Given the description of an element on the screen output the (x, y) to click on. 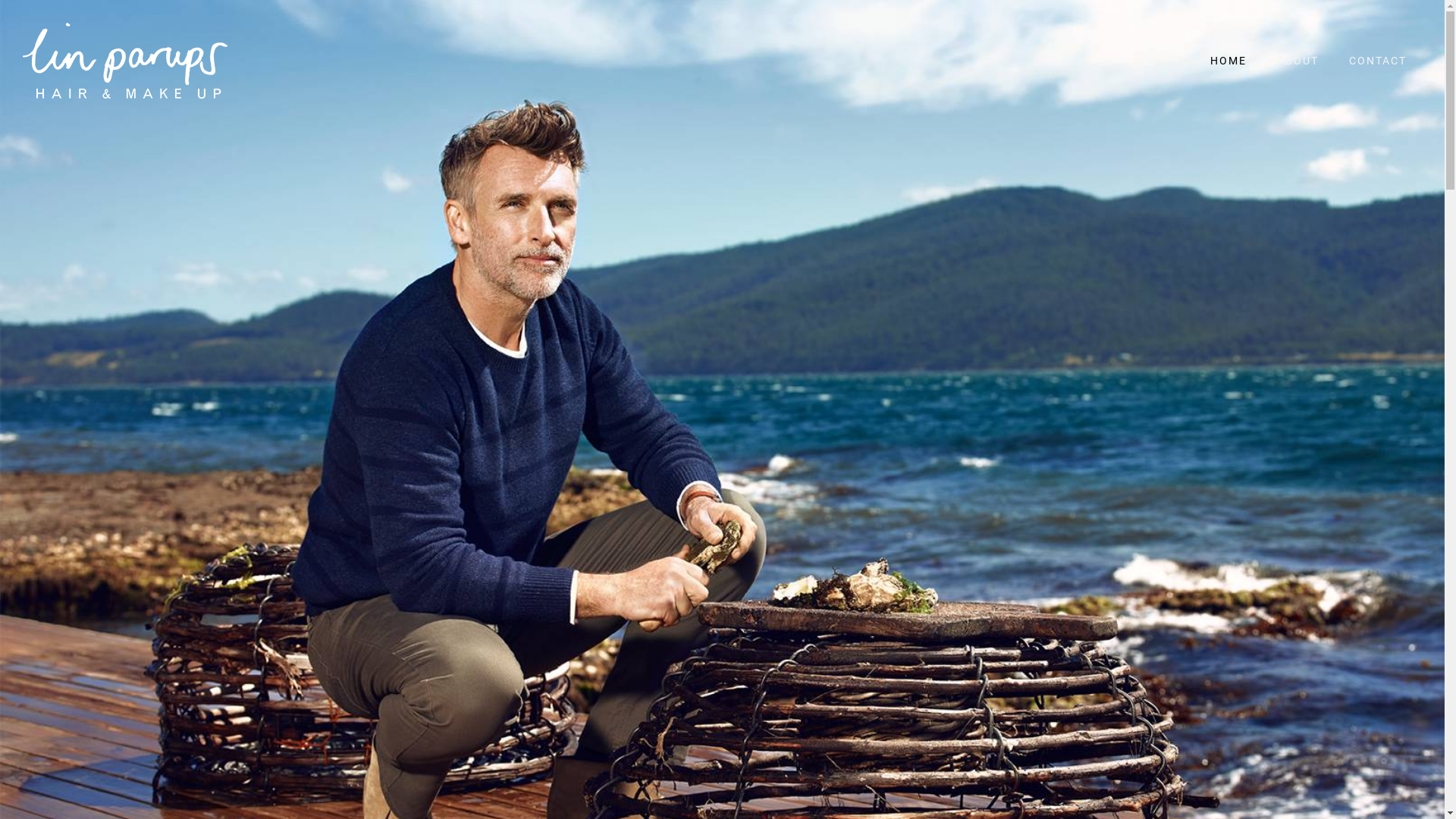
CONTACT Element type: text (1377, 60)
HOME Element type: text (1228, 60)
ABOUT Element type: text (1297, 60)
